Given the description of an element on the screen output the (x, y) to click on. 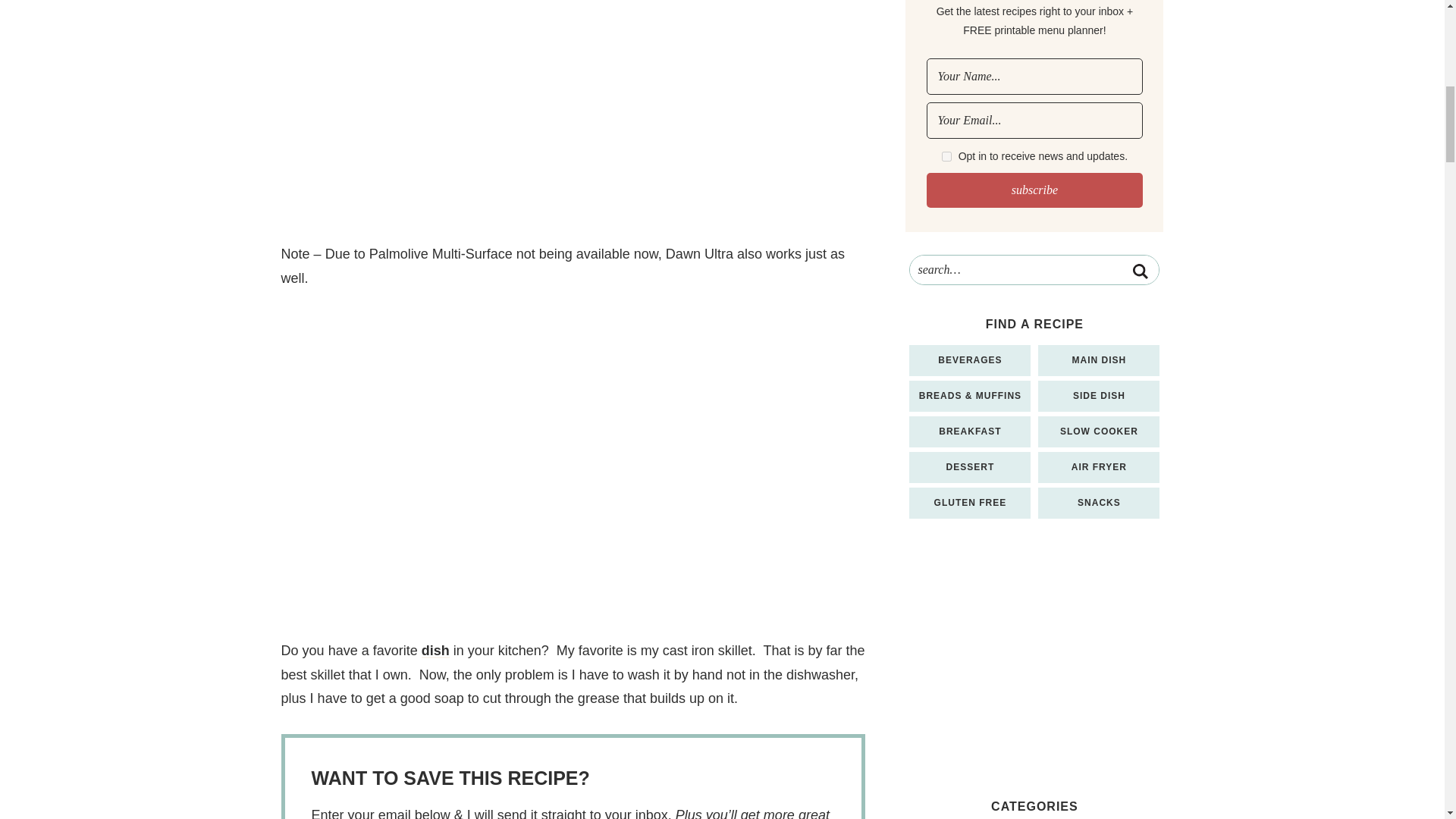
Search for (1034, 269)
on (947, 156)
